Given the description of an element on the screen output the (x, y) to click on. 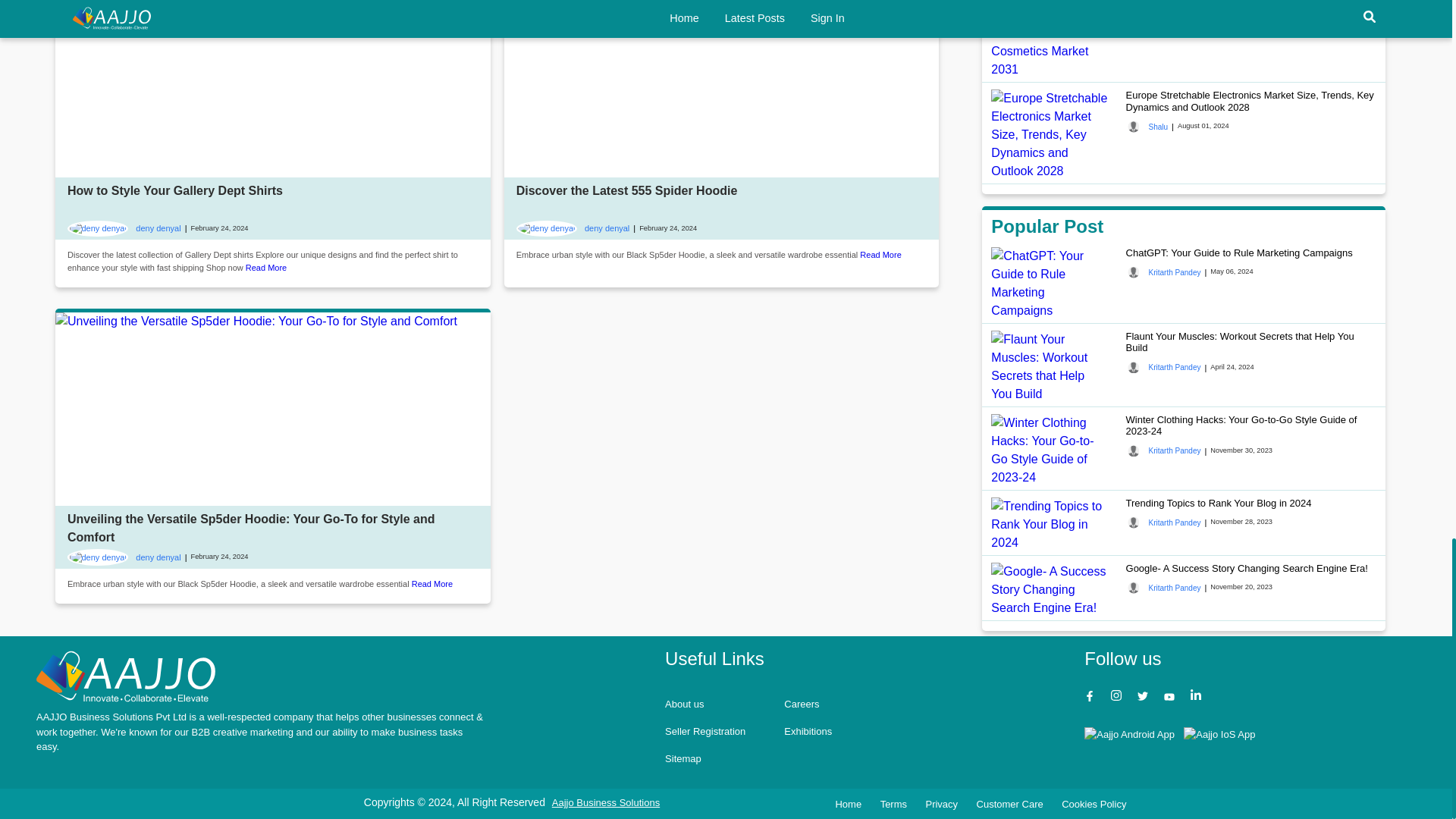
Read More (880, 254)
instagram (1117, 697)
deny denyal (123, 228)
Home (125, 676)
Download IoS App (1218, 734)
About us (684, 704)
Aajjo Business Solutions Private Limited (605, 802)
youtube (1170, 697)
Read More (266, 266)
Read More (432, 583)
